Given the description of an element on the screen output the (x, y) to click on. 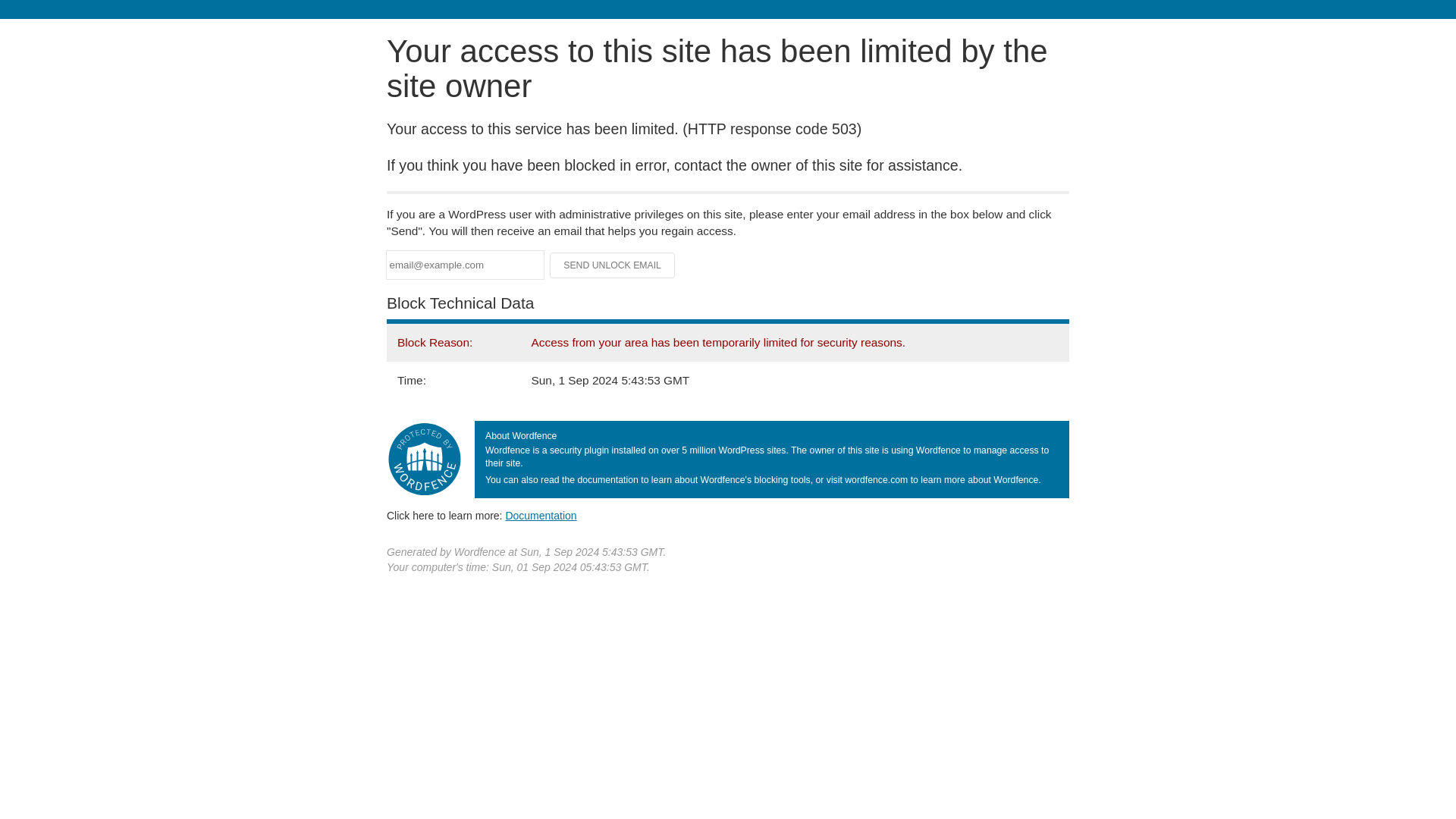
Documentation (540, 515)
Send Unlock Email (612, 265)
Send Unlock Email (612, 265)
